Given the description of an element on the screen output the (x, y) to click on. 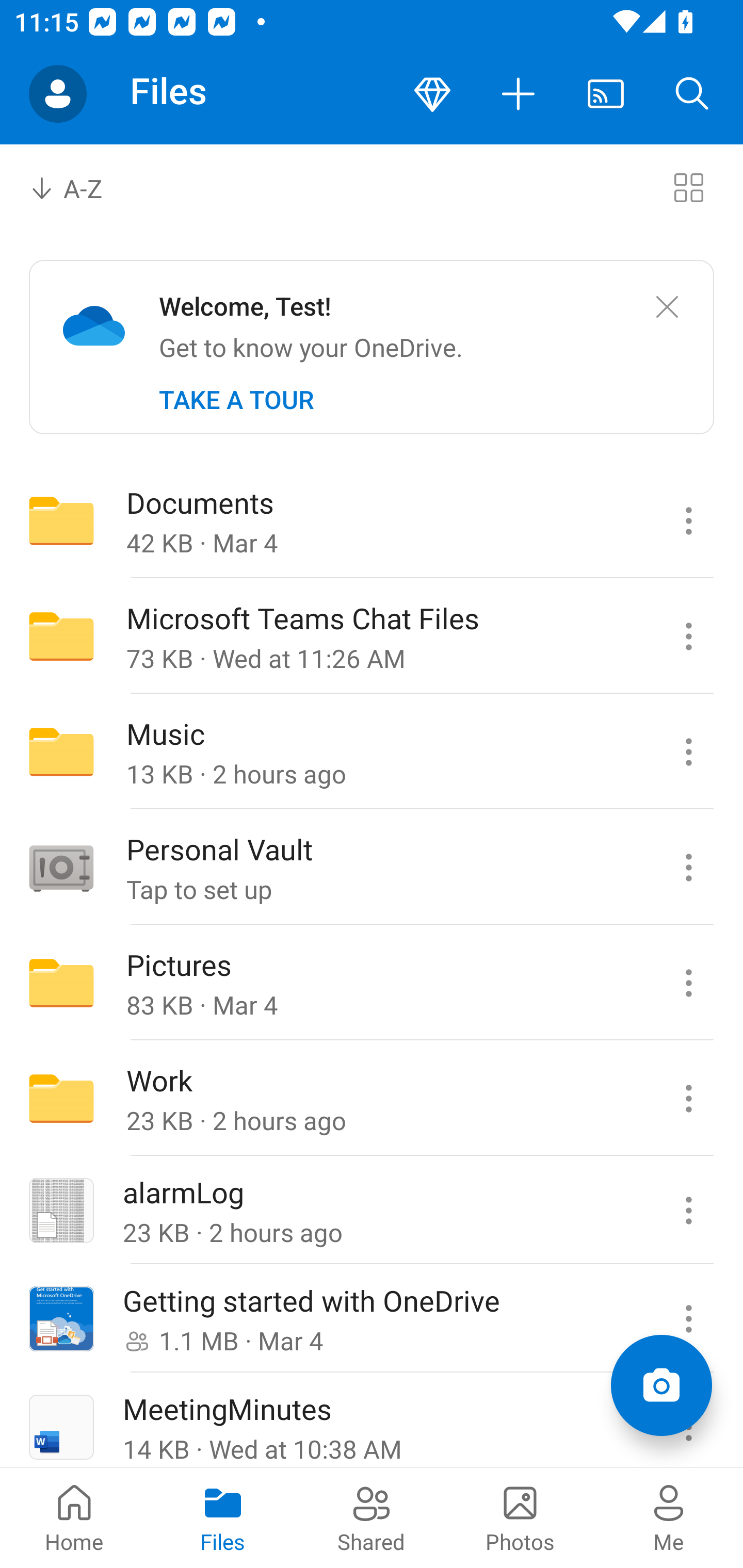
Account switcher (57, 93)
Cast. Disconnected (605, 93)
Premium button (432, 93)
More actions button (518, 93)
Search button (692, 93)
A-Z Sort by combo box, sort by name, A to Z (80, 187)
Switch to tiles view (688, 187)
Close (667, 307)
TAKE A TOUR (236, 399)
Folder Documents 42 KB · Mar 4 Documents commands (371, 520)
Documents commands (688, 520)
Microsoft Teams Chat Files commands (688, 636)
Folder Music 13 KB · 2 hours ago Music commands (371, 751)
Music commands (688, 751)
Personal Vault commands (688, 867)
Folder Pictures 83 KB · Mar 4 Pictures commands (371, 983)
Pictures commands (688, 983)
Folder Work 23 KB · 2 hours ago Work commands (371, 1099)
Work commands (688, 1099)
alarmLog commands (688, 1211)
Getting started with OneDrive commands (688, 1319)
Add items Scan (660, 1385)
Home pivot Home (74, 1517)
Shared pivot Shared (371, 1517)
Photos pivot Photos (519, 1517)
Me pivot Me (668, 1517)
